Given the description of an element on the screen output the (x, y) to click on. 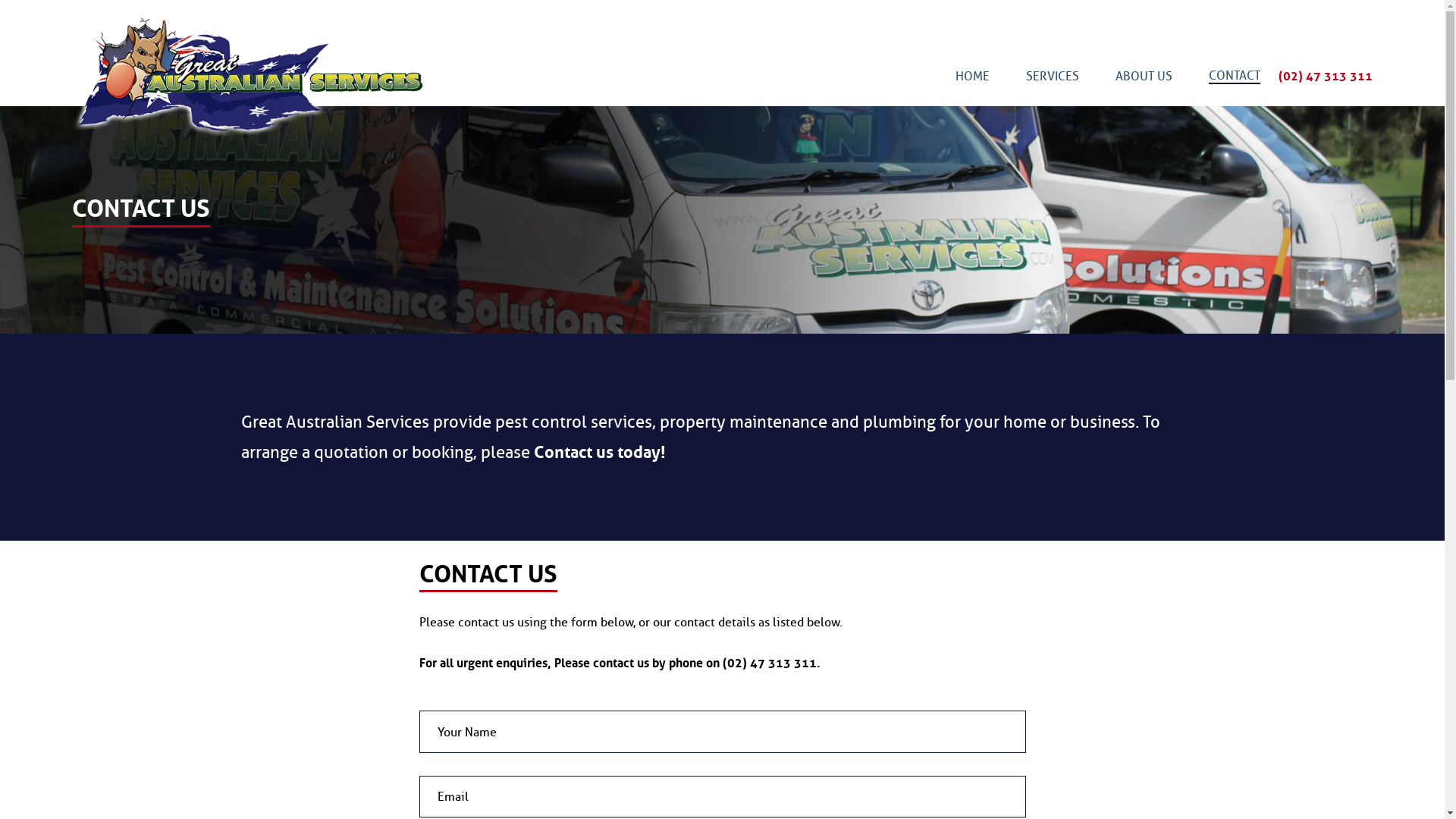
Great Australian Services Home Element type: hover (288, 76)
HOME Element type: text (972, 76)
CONTACT Element type: text (1234, 76)
ABOUT US Element type: text (1143, 76)
SERVICES Element type: text (1052, 76)
